Given the description of an element on the screen output the (x, y) to click on. 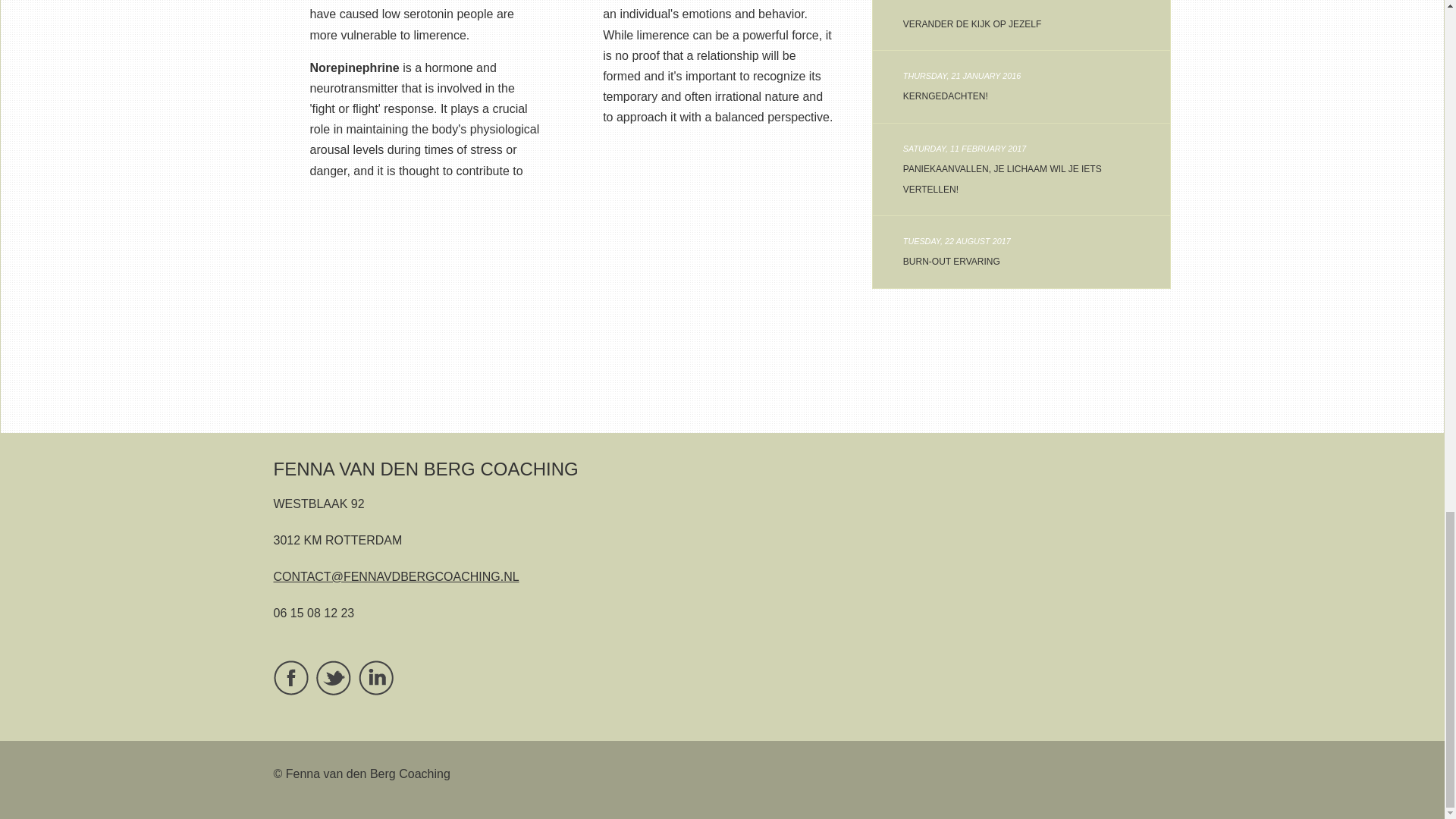
VERANDER DE KIJK OP JEZELF (1021, 86)
